Given the description of an element on the screen output the (x, y) to click on. 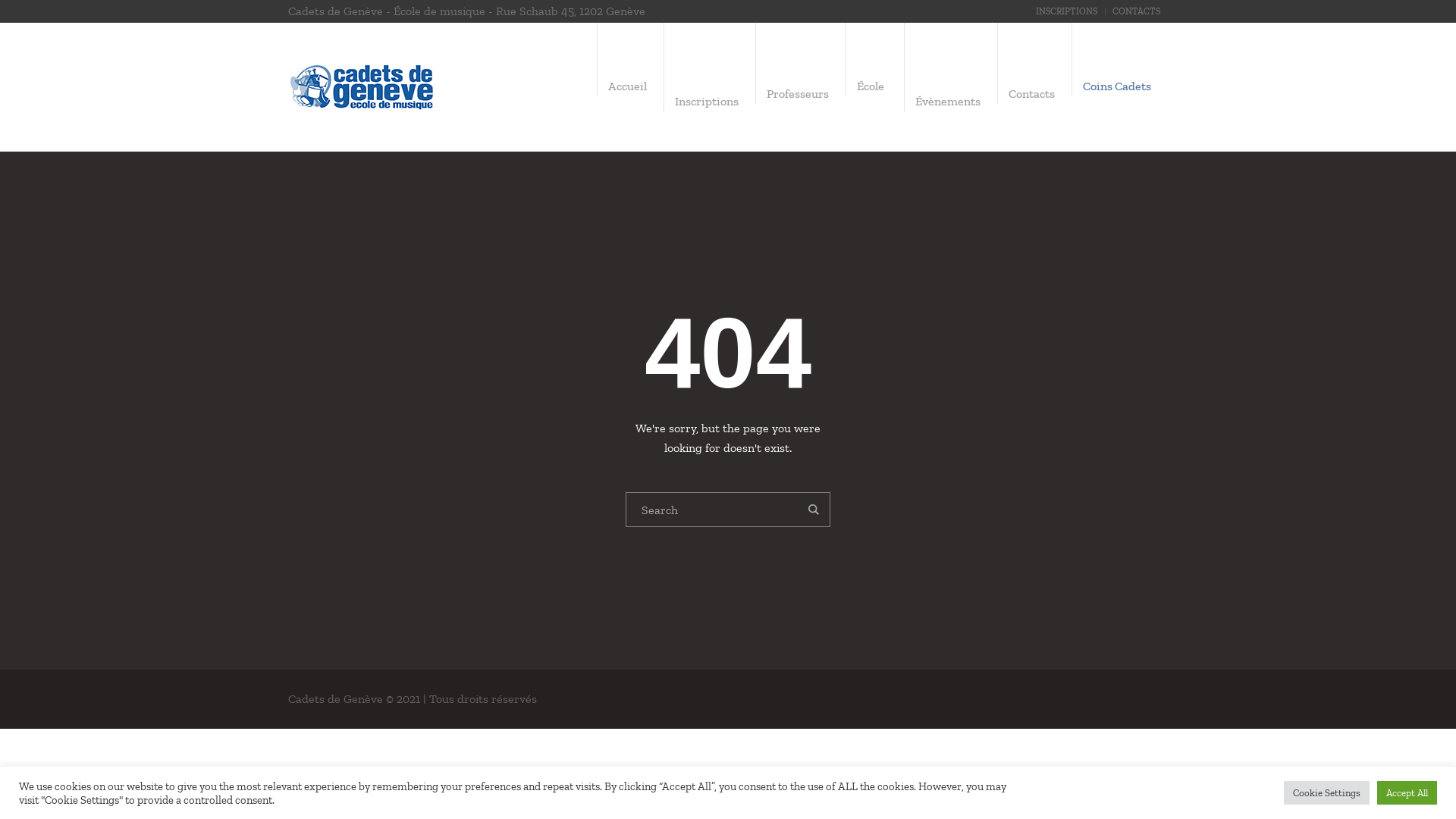
Professeurs Element type: text (800, 93)
Coins Cadets Element type: text (1119, 86)
Accueil Element type: text (630, 86)
Contacts Element type: text (1034, 93)
Inscriptions Element type: text (709, 101)
Cookie Settings Element type: text (1326, 792)
Accept All Element type: text (1407, 792)
CONTACTS Element type: text (1135, 10)
INSCRIPTIONS Element type: text (1066, 10)
